Given the description of an element on the screen output the (x, y) to click on. 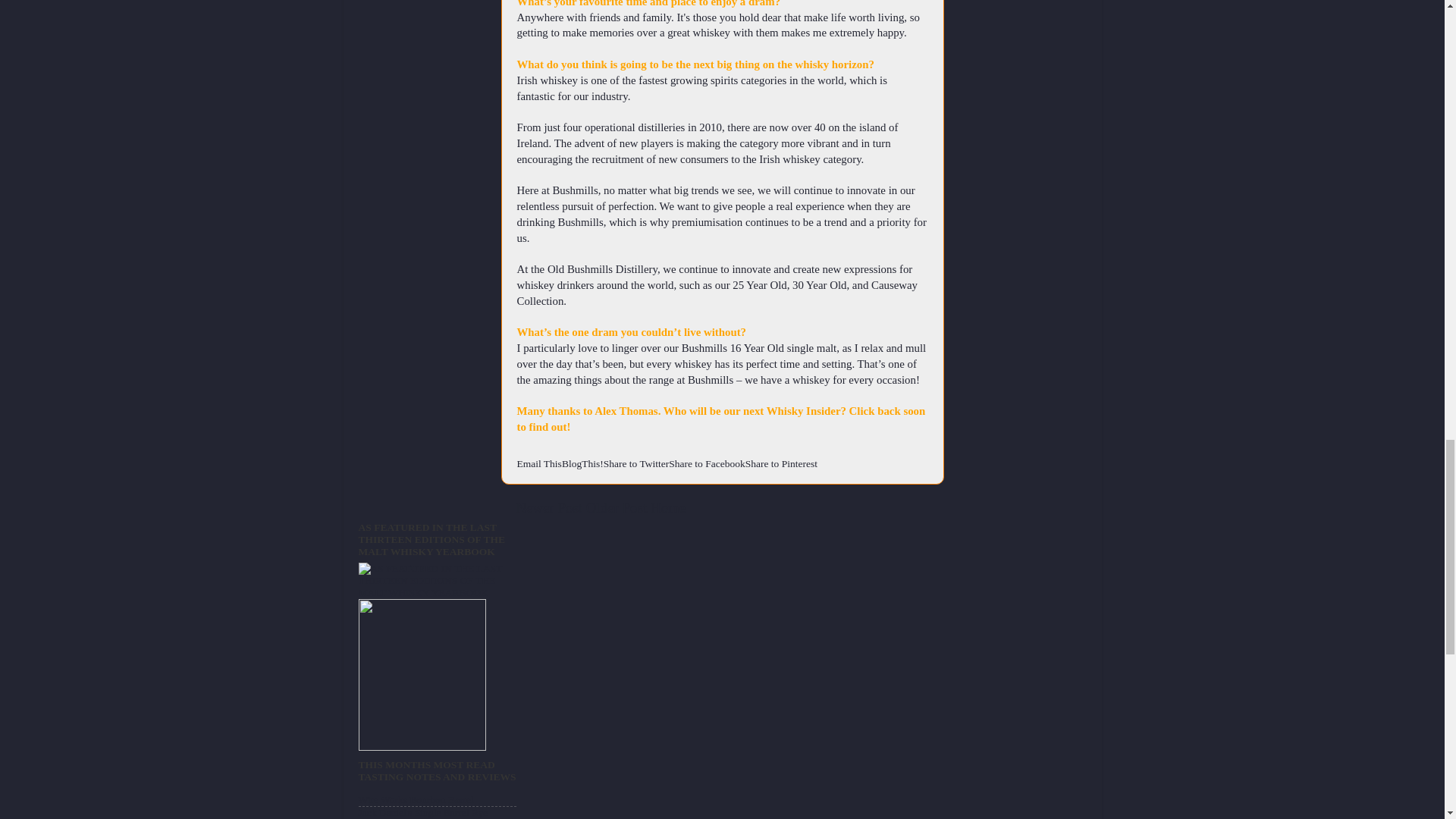
Email This (539, 463)
Share to Pinterest (780, 463)
Older Post (616, 507)
Share to Facebook (706, 463)
Share to Twitter (636, 463)
Jack Daniel's Single Barrel Rye (422, 812)
Share to Twitter (636, 463)
Share to Facebook (706, 463)
BlogThis! (583, 463)
Newer Post (548, 507)
